Given the description of an element on the screen output the (x, y) to click on. 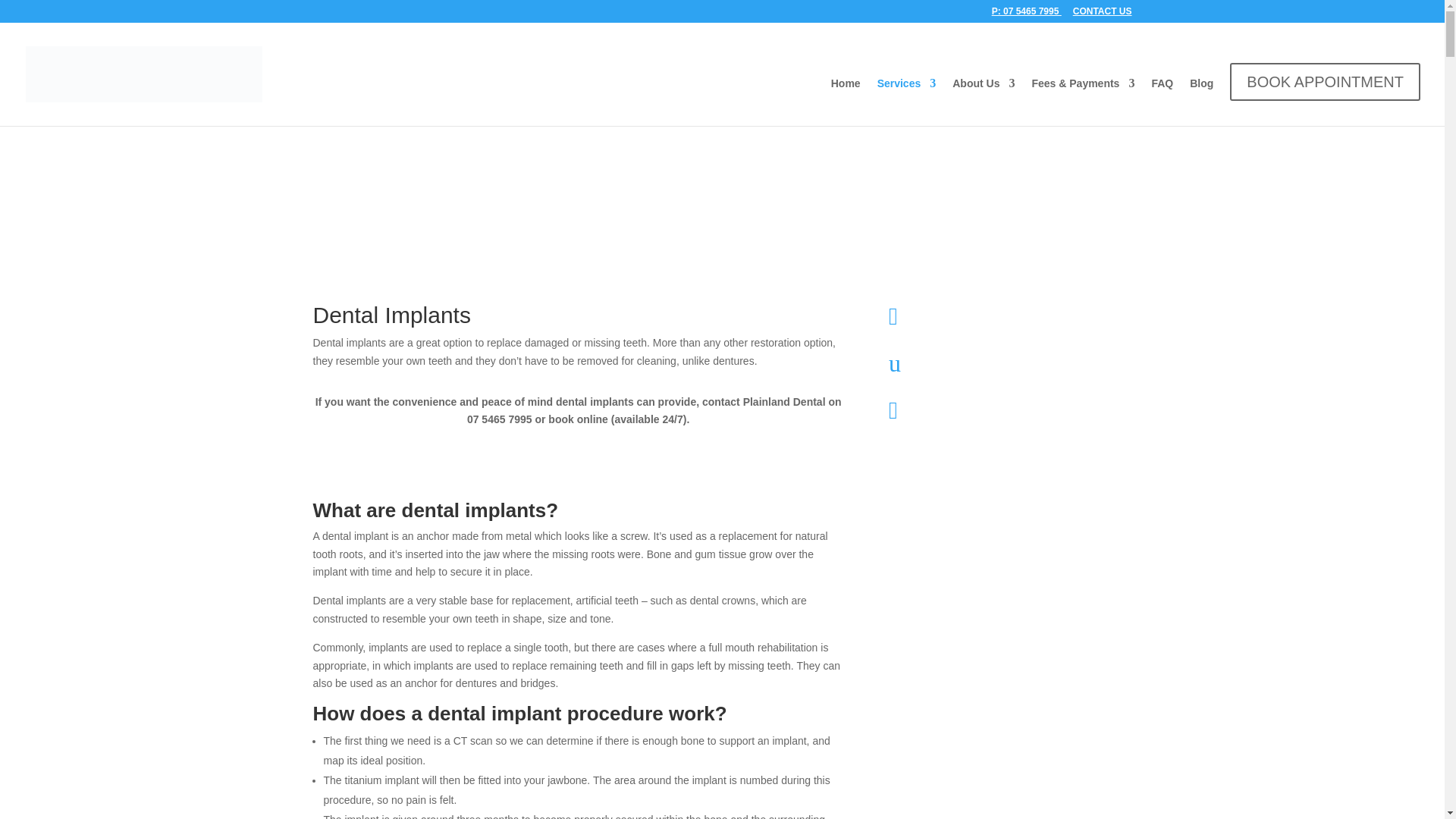
CONTACT US (1102, 14)
P: 07 5465 7995  (1026, 14)
About Us (983, 95)
Services (906, 95)
